Given the description of an element on the screen output the (x, y) to click on. 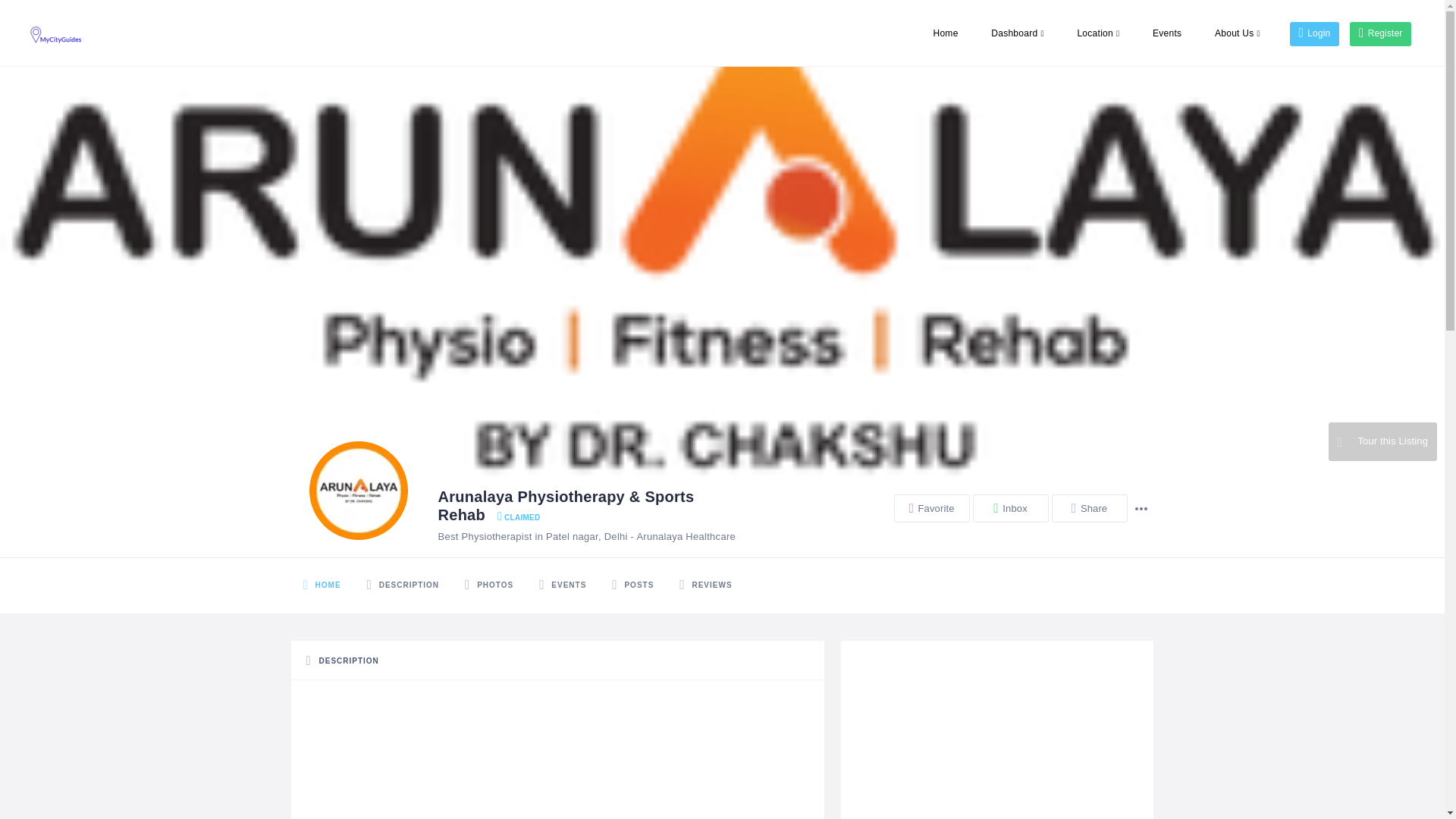
Location (1097, 33)
Favorite (931, 508)
Login (1313, 33)
Tour this Listing (1382, 441)
Register (1379, 33)
Advertisement (997, 736)
Share (1088, 508)
About Us (1237, 33)
Inbox (1010, 508)
Dashboard (1017, 33)
